Given the description of an element on the screen output the (x, y) to click on. 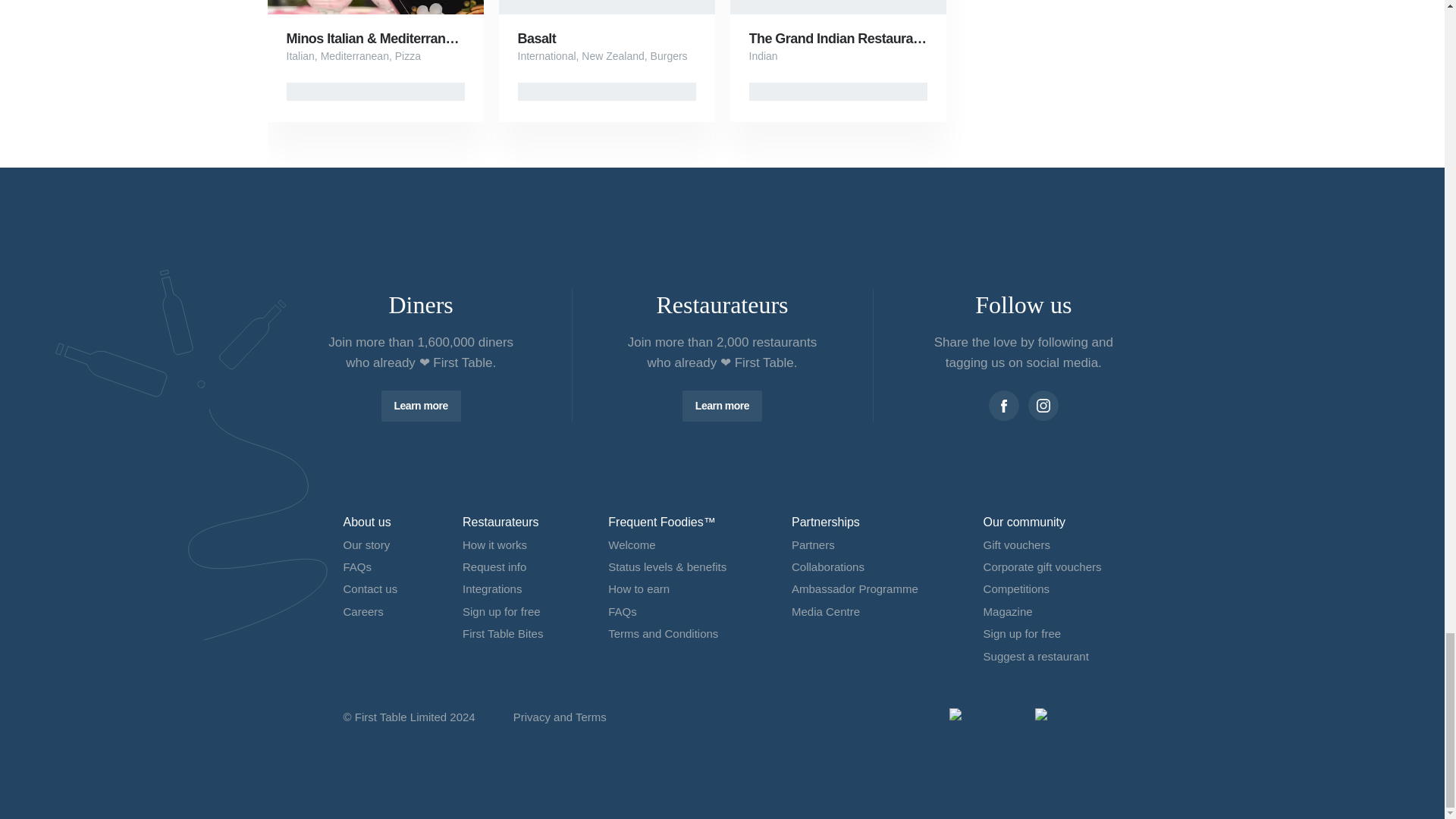
First Table Bites (503, 633)
Learn more (721, 405)
Our story (366, 544)
Contact us (369, 588)
Basalt (536, 38)
FAQs (356, 566)
Terms and Conditions (662, 633)
Welcome (631, 544)
Integrations (492, 588)
FAQs (622, 611)
